Given the description of an element on the screen output the (x, y) to click on. 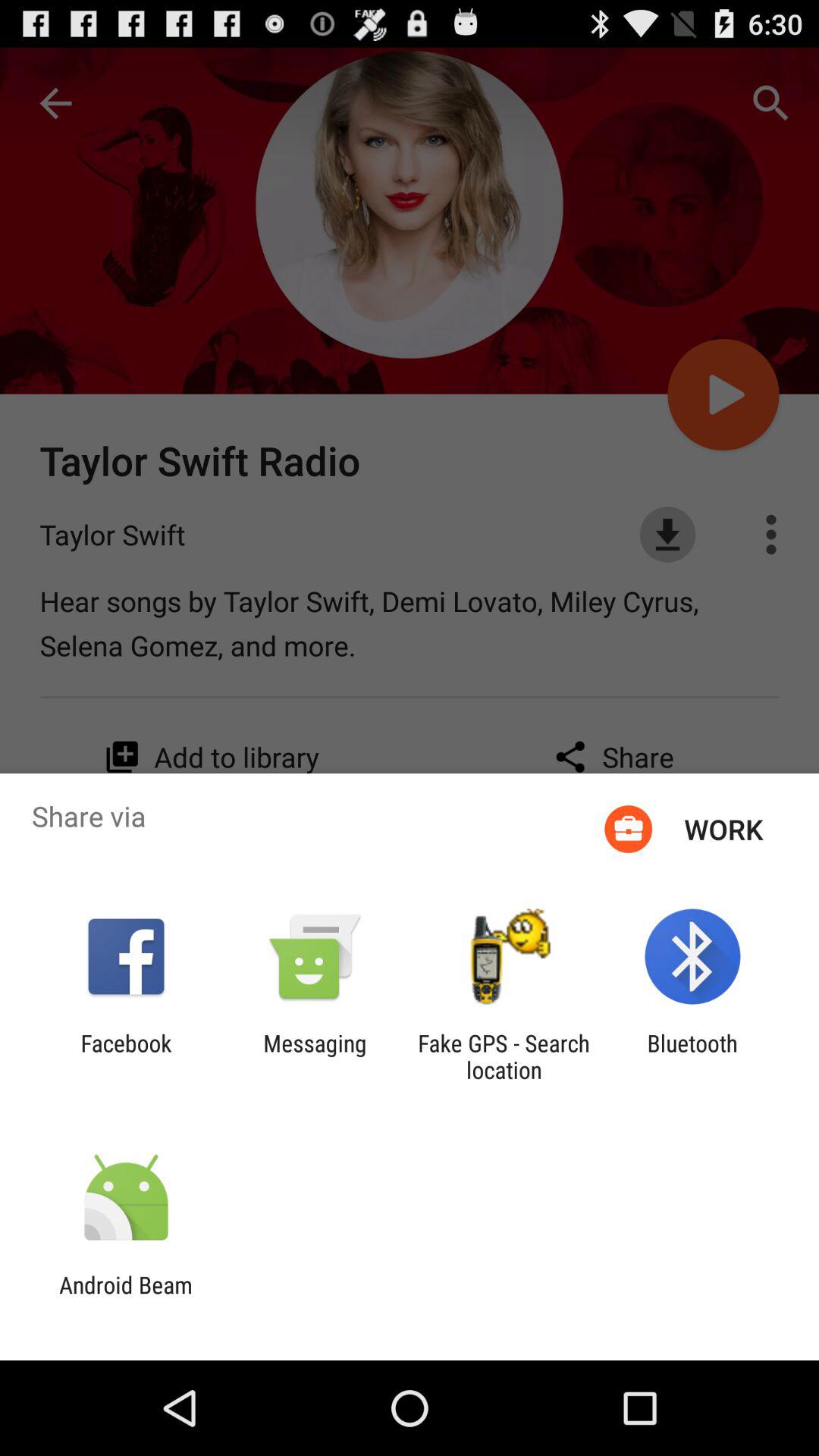
launch icon next to the messaging item (503, 1056)
